Given the description of an element on the screen output the (x, y) to click on. 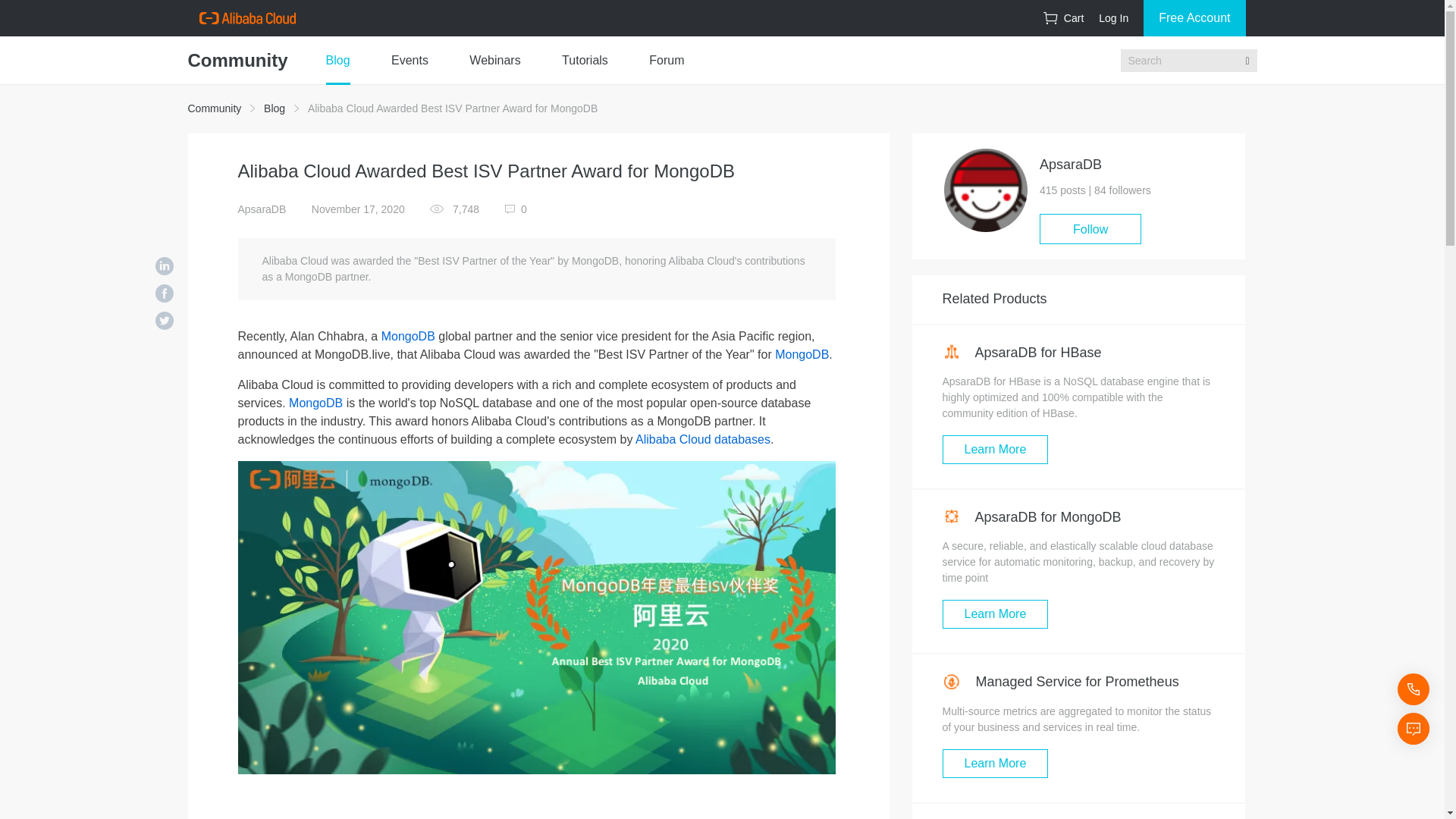
MongoDB (408, 336)
Tutorials (585, 60)
AliCloud (246, 18)
Free Account (1193, 18)
ApsaraDB (262, 209)
Log In (1112, 17)
Alibaba Cloud databases (702, 439)
MongoDB (315, 402)
Webinars (493, 60)
0 (515, 209)
